Given the description of an element on the screen output the (x, y) to click on. 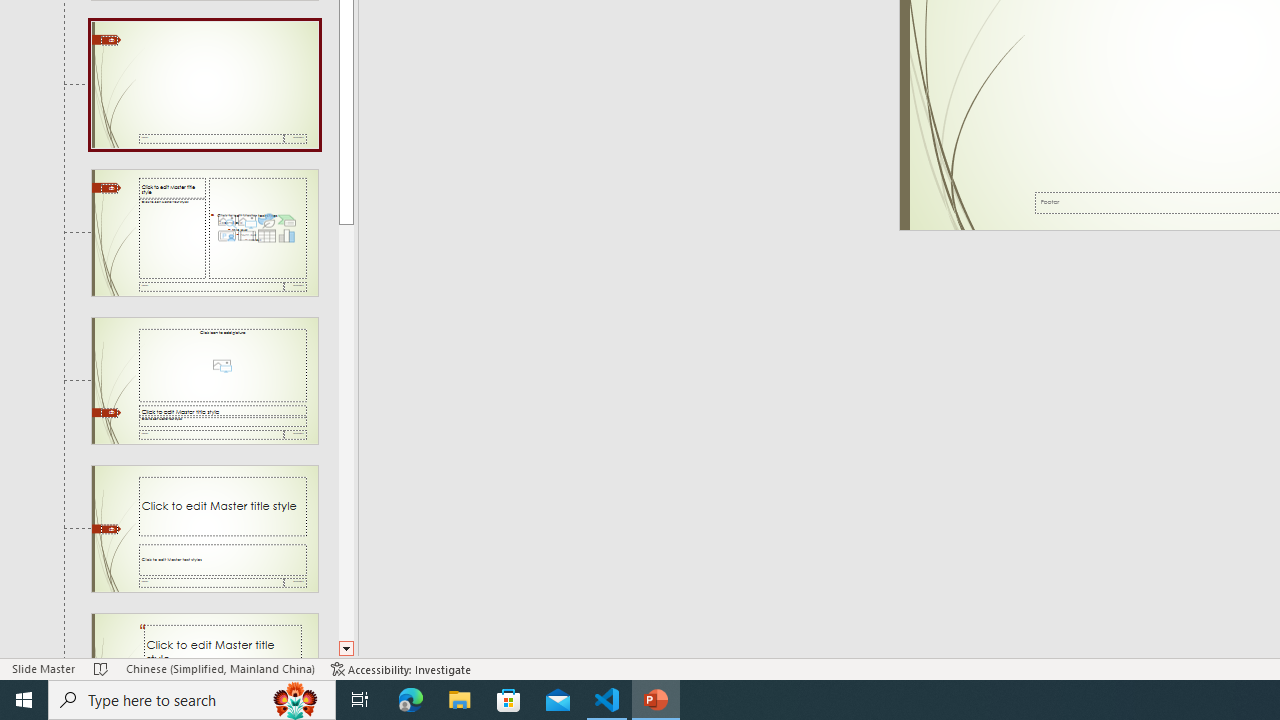
Slide Content with Caption Layout: used by no slides (204, 232)
Slide Quote with Caption Layout: used by no slides (204, 636)
Slide Picture with Caption Layout: used by no slides (204, 381)
Spell Check No Errors (101, 668)
Page down (345, 432)
Slide Title and Caption Layout: used by no slides (204, 528)
Line down (345, 649)
Accessibility Checker Accessibility: Investigate (401, 668)
Slide Blank Layout: used by no slides (204, 85)
